Given the description of an element on the screen output the (x, y) to click on. 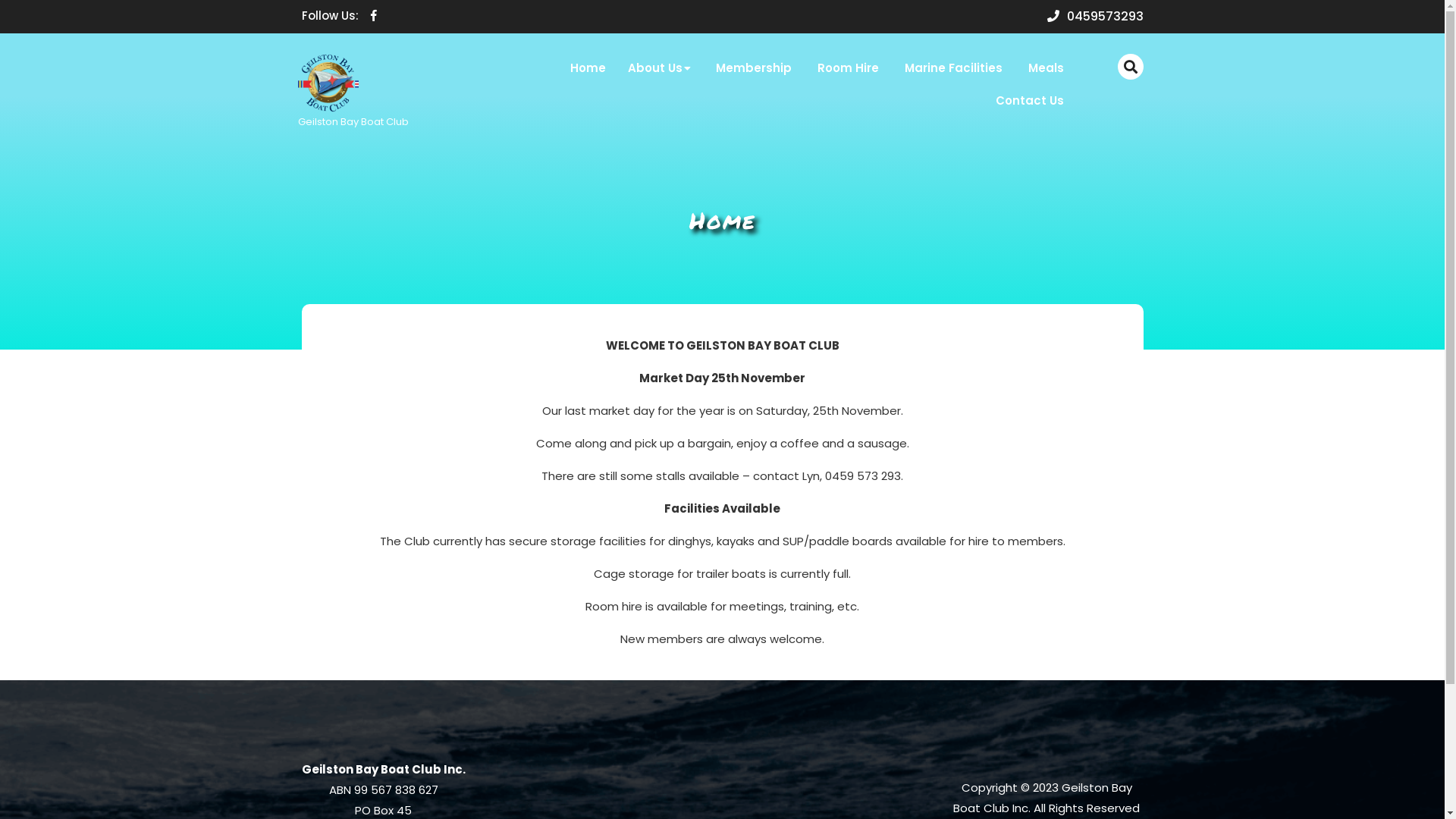
Membership Element type: text (752, 68)
Facebook Element type: text (368, 16)
Home Element type: text (587, 68)
About Us Element type: text (660, 68)
0459573293
0459573293 Element type: text (1094, 16)
Marine Facilities Element type: text (953, 68)
Contact Us Element type: text (1029, 100)
Room Hire Element type: text (847, 68)
Meals Element type: text (1045, 68)
